Given the description of an element on the screen output the (x, y) to click on. 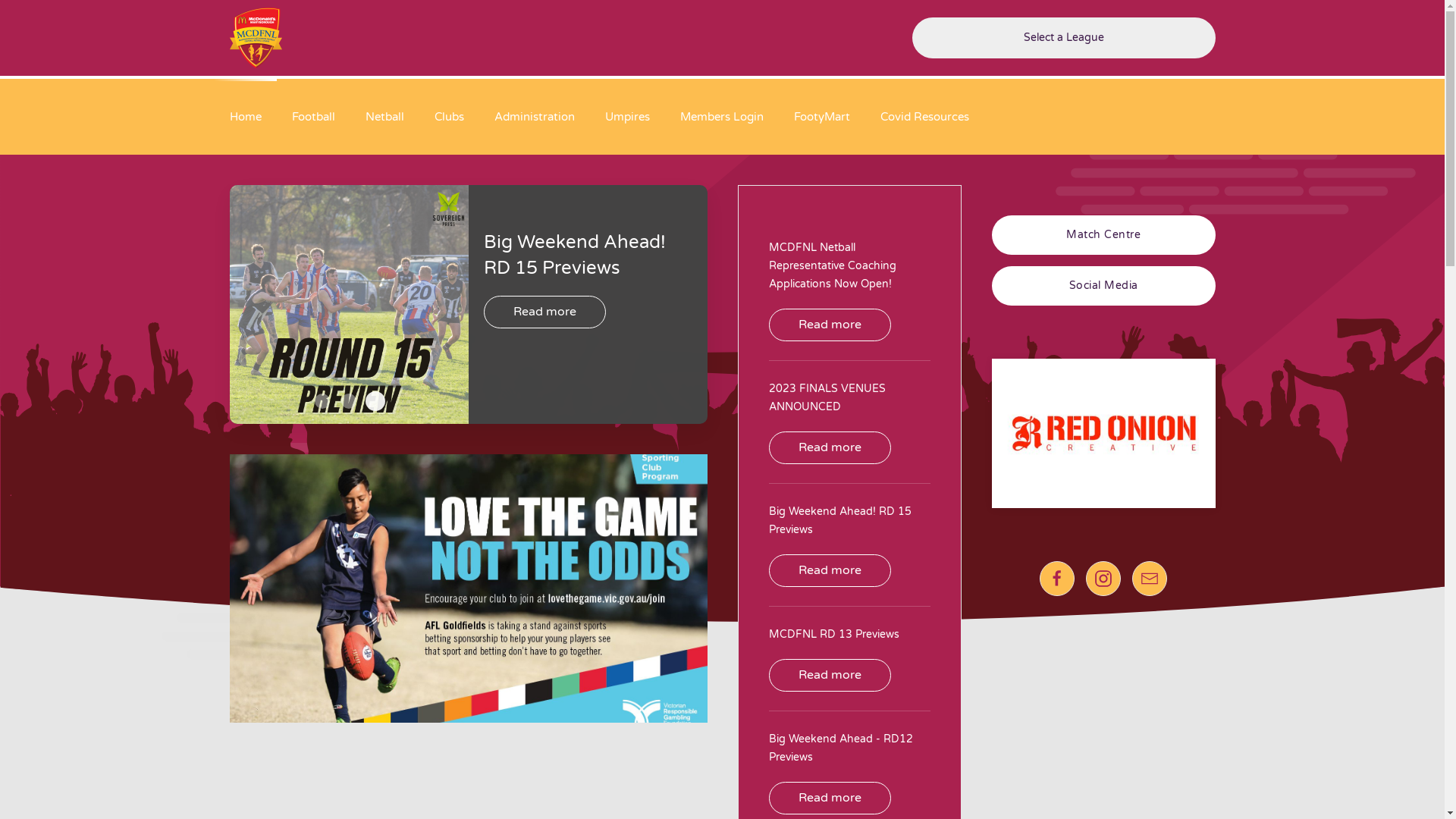
Social Media Element type: text (1103, 285)
FootyMart Element type: text (821, 116)
Umpires Element type: text (627, 116)
MCDFNL RD 13 Previews Element type: text (833, 633)
Match Centre Element type: text (1103, 234)
Administration Element type: text (534, 116)
Read more Element type: text (829, 570)
Read more Element type: text (544, 362)
Read more Element type: text (829, 324)
Read more Element type: text (829, 674)
2023 FINALS VENUES ANNOUNCED Element type: text (826, 397)
Clubs Element type: text (448, 116)
Big Weekend Ahead! RD 15 Previews Element type: text (374, 400)
Netball Element type: text (384, 116)
Big Weekend Ahead - RD12 Previews Element type: text (840, 747)
Members Login Element type: text (721, 116)
2023 FINALS VENUES ANNOUNCED Element type: text (348, 400)
Big Weekend Ahead! RD 15 Previews Element type: text (839, 520)
Covid Resources Element type: text (923, 116)
Football Element type: text (312, 116)
Read more Element type: text (829, 447)
Read more Element type: text (829, 797)
Home Element type: text (244, 116)
